Given the description of an element on the screen output the (x, y) to click on. 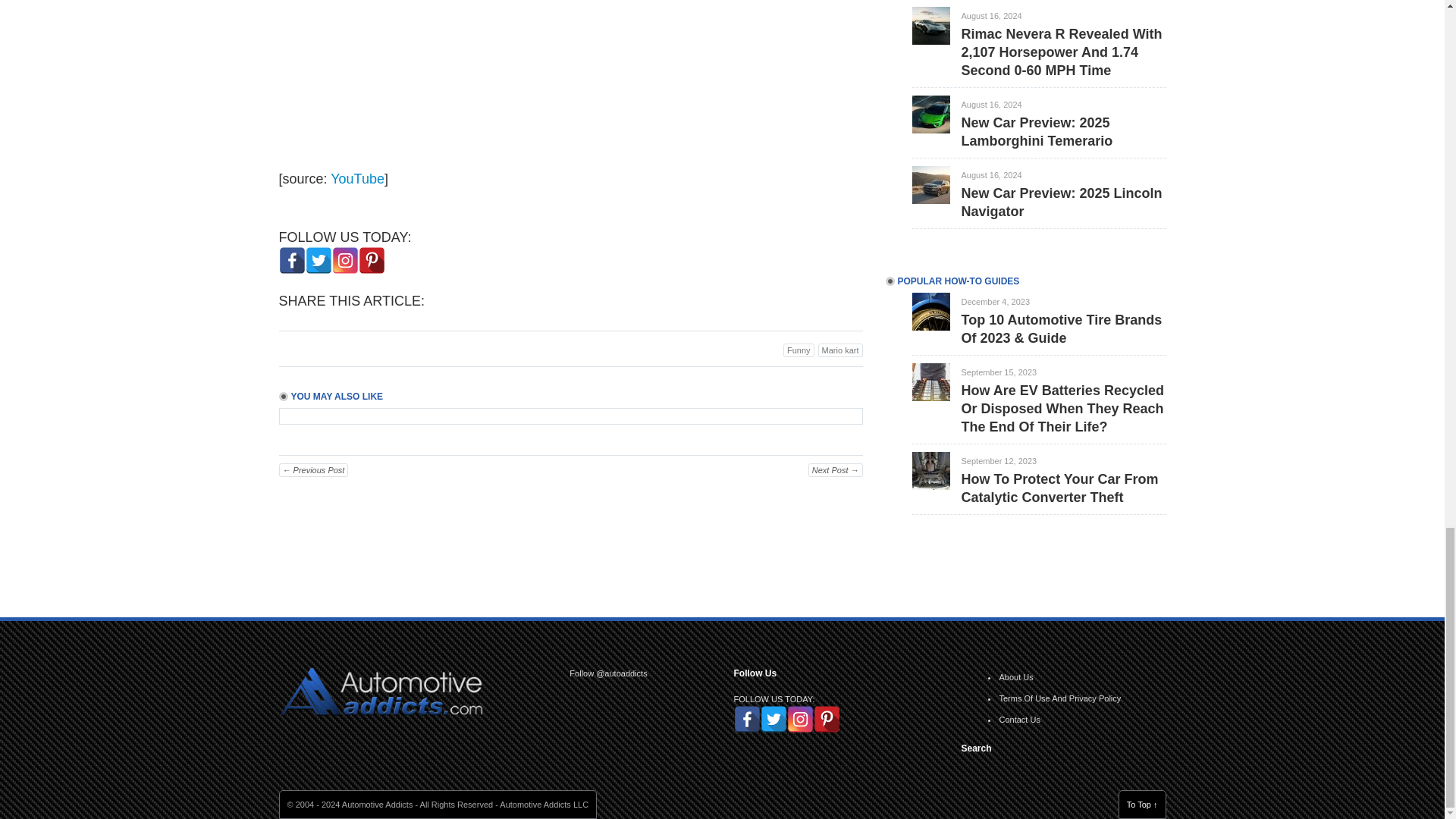
Facebook (292, 260)
Twitter (317, 260)
Pinterest (371, 260)
Instagram (344, 260)
